Given the description of an element on the screen output the (x, y) to click on. 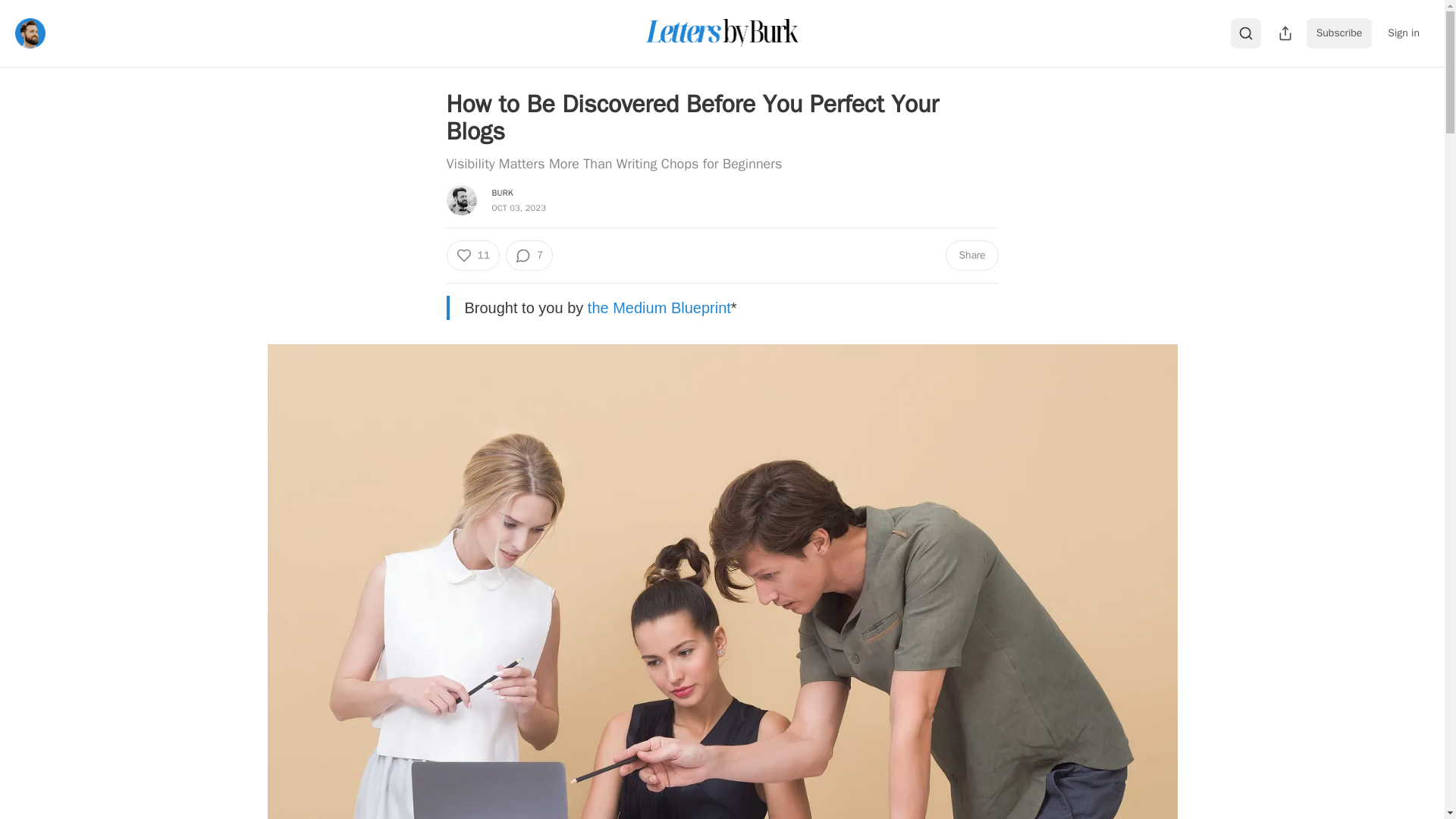
Share (970, 255)
Subscribe (1339, 33)
11 (472, 255)
BURK (502, 192)
7 (529, 255)
Sign in (1403, 33)
the Medium Blueprint (659, 307)
